Given the description of an element on the screen output the (x, y) to click on. 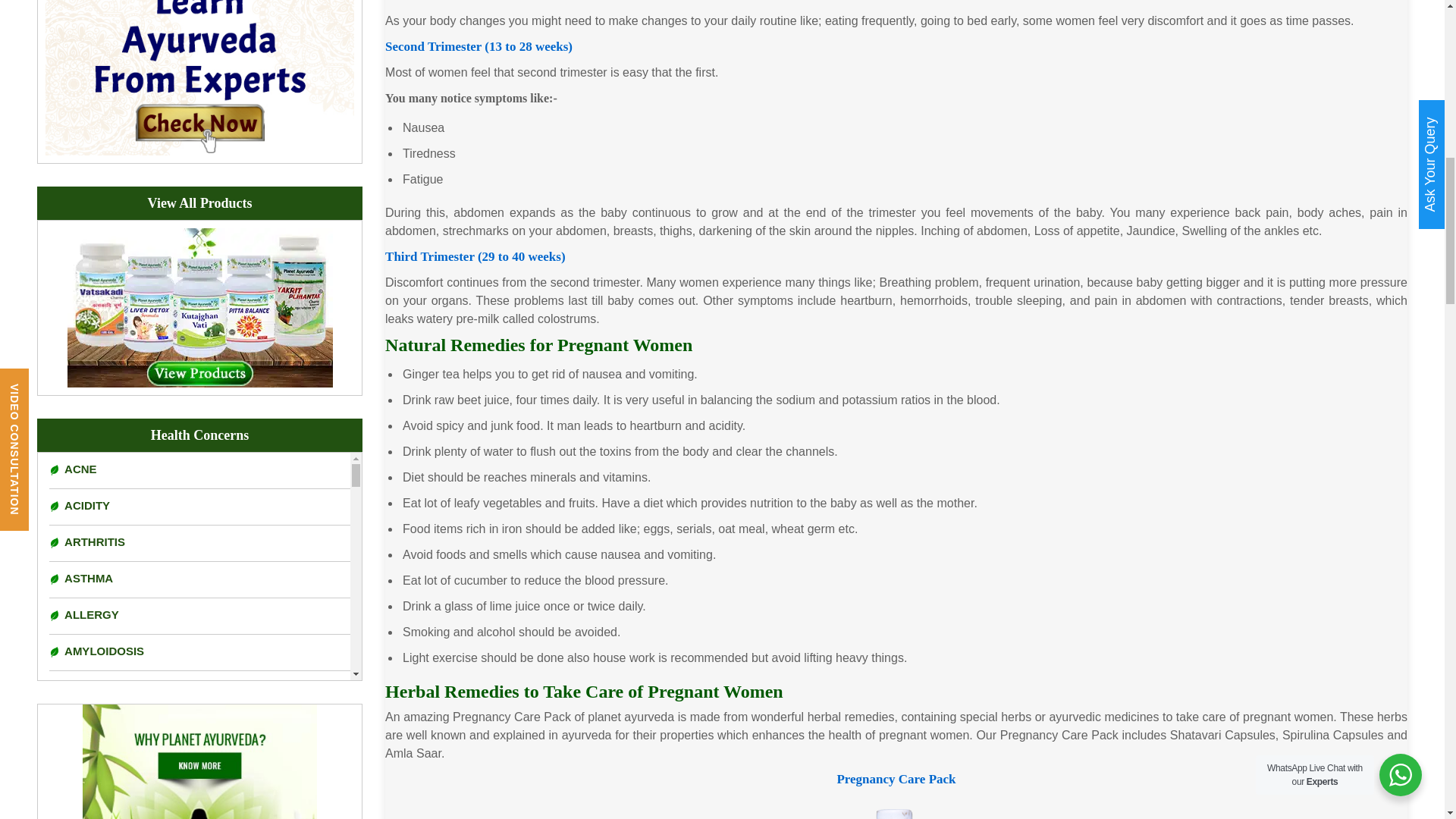
Pregnancy Care Pack (895, 807)
Why Planet Ayurveda? (199, 761)
Ayurveda medcines and Herbal Store (199, 306)
